Given the description of an element on the screen output the (x, y) to click on. 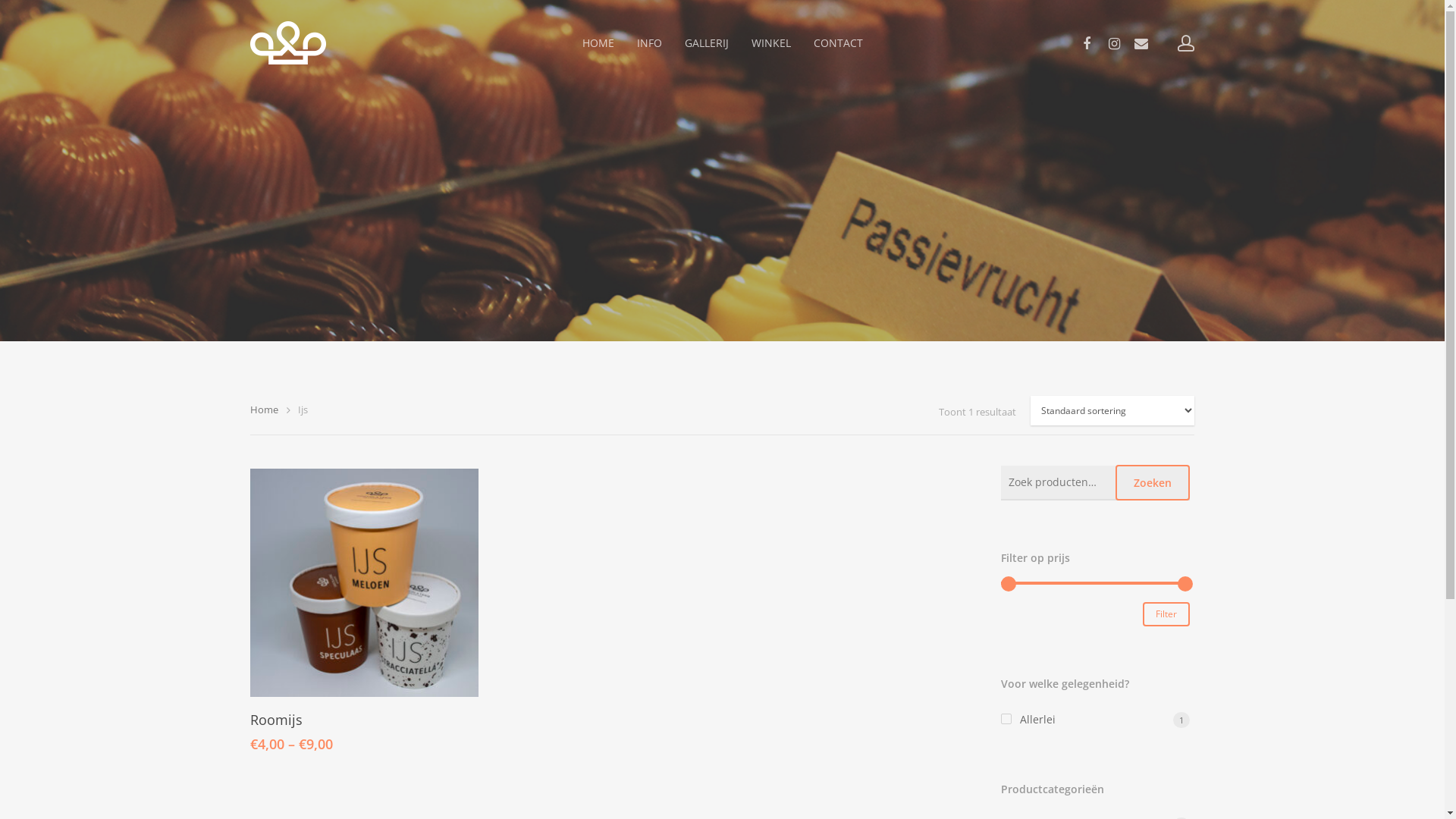
Home Element type: text (264, 409)
INFO Element type: text (649, 42)
Zoeken Element type: text (1152, 482)
Allerlei Element type: text (1095, 719)
CONTACT Element type: text (837, 42)
Filter Element type: text (1165, 614)
GALLERIJ Element type: text (706, 42)
WINKEL Element type: text (770, 42)
HOME Element type: text (598, 42)
